Given the description of an element on the screen output the (x, y) to click on. 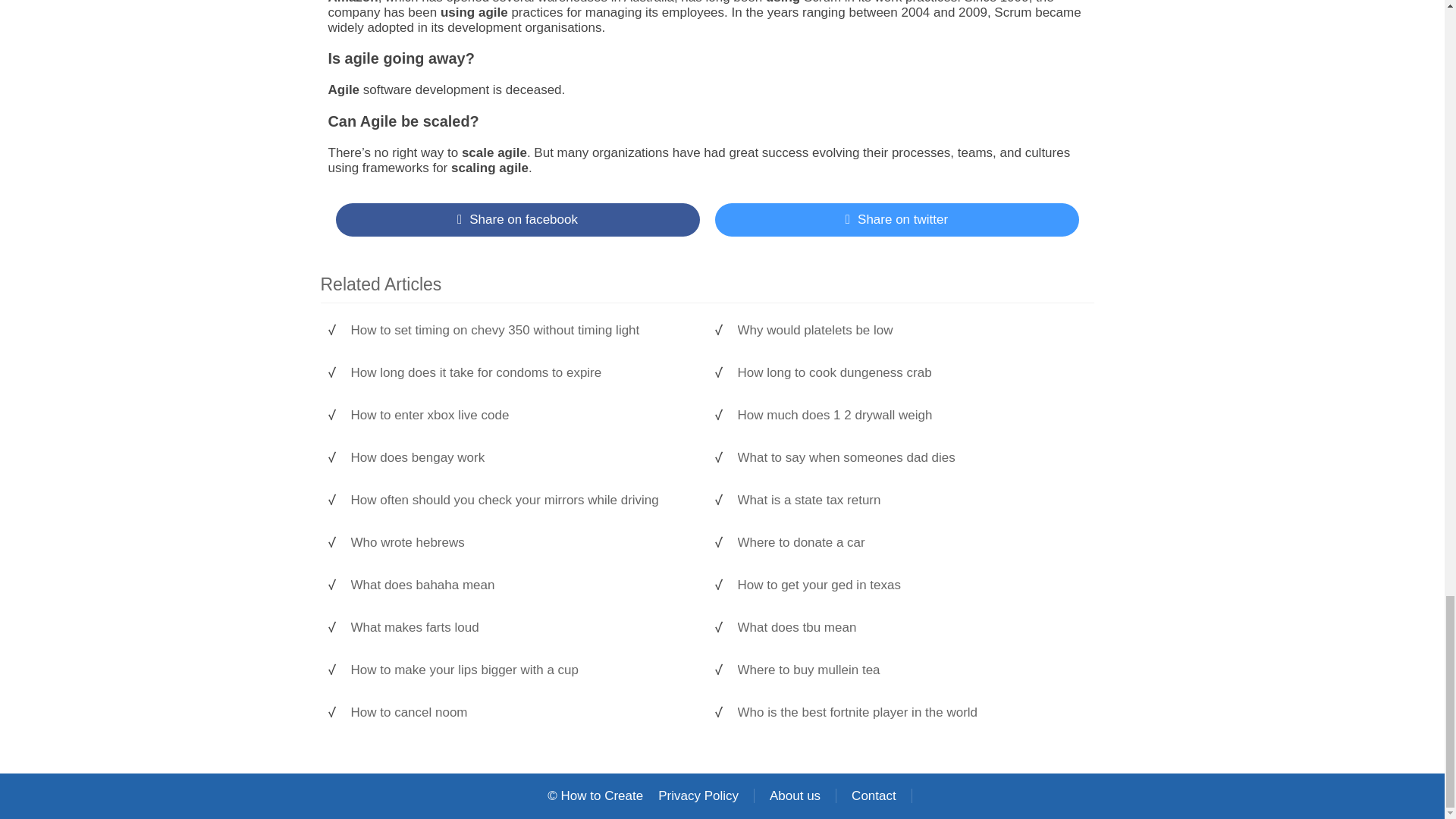
Where to donate a car (907, 542)
Who is the best fortnite player in the world (907, 712)
How to enter xbox live code (520, 415)
How does bengay work (520, 458)
What is a state tax return (907, 500)
Why would platelets be low (907, 330)
How long does it take for condoms to expire (520, 372)
Where to buy mullein tea (907, 670)
About us (794, 795)
Privacy Policy (698, 795)
Who wrote hebrews (520, 542)
How much does 1 2 drywall weigh (907, 415)
How often should you check your mirrors while driving (520, 500)
Who wrote hebrews (520, 542)
How to make your lips bigger with a cup (520, 670)
